Given the description of an element on the screen output the (x, y) to click on. 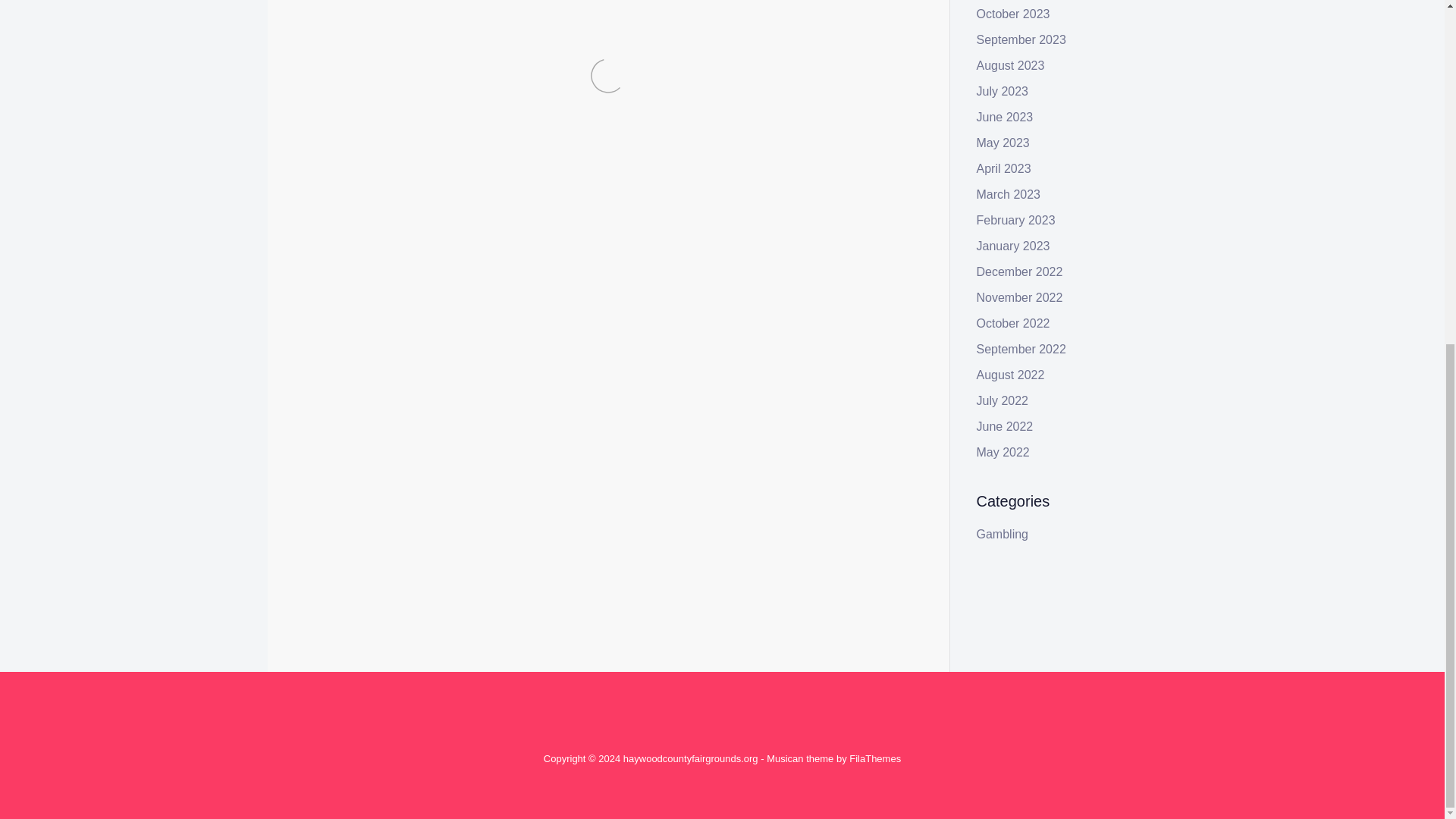
July 2023 (1002, 91)
August 2022 (1010, 374)
June 2023 (1004, 116)
March 2023 (1008, 194)
May 2023 (1002, 142)
January 2023 (1012, 245)
June 2022 (1004, 426)
July 2022 (1002, 400)
September 2022 (1020, 349)
February 2023 (1015, 219)
